Given the description of an element on the screen output the (x, y) to click on. 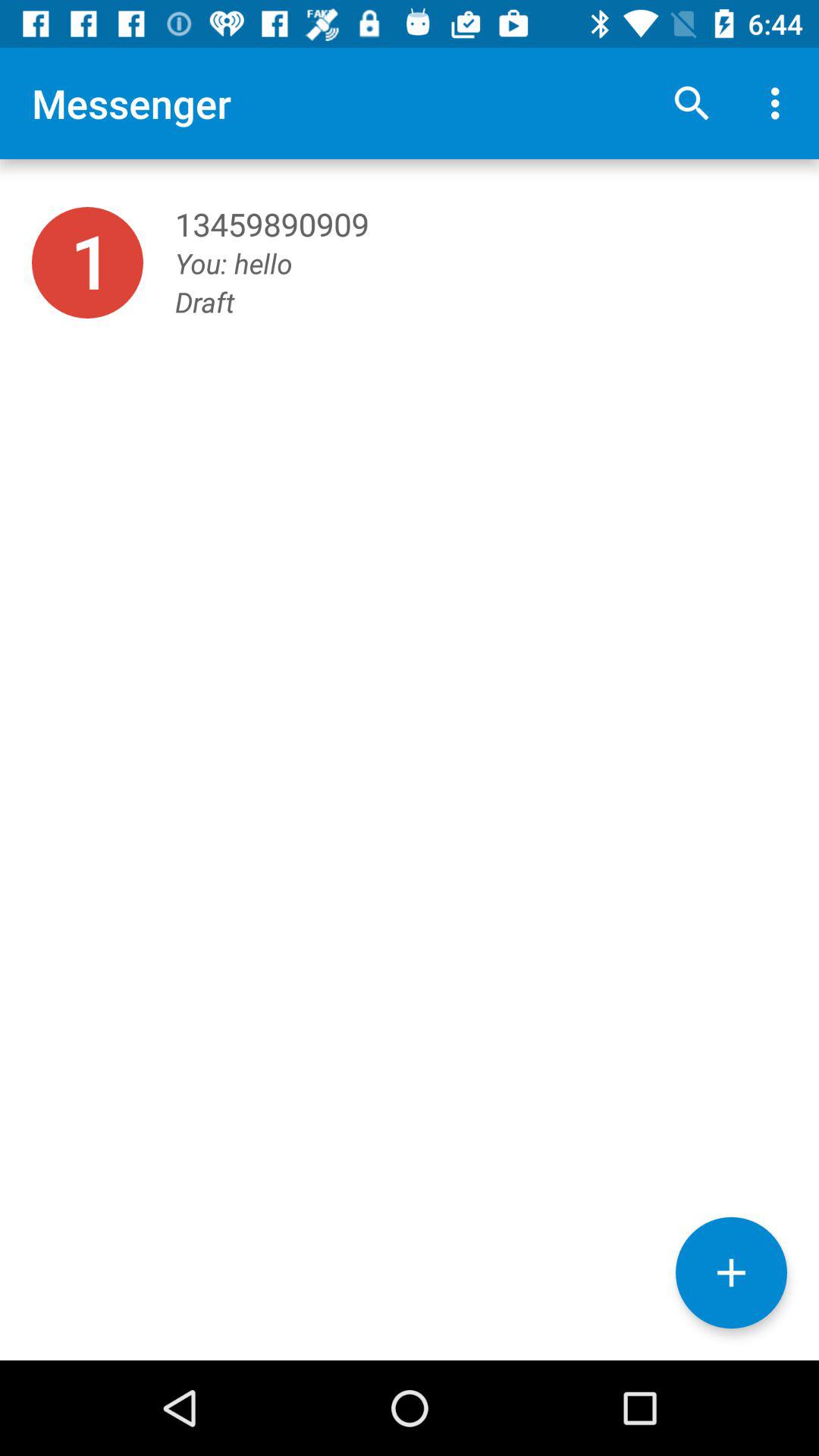
open item below the messenger item (87, 262)
